Given the description of an element on the screen output the (x, y) to click on. 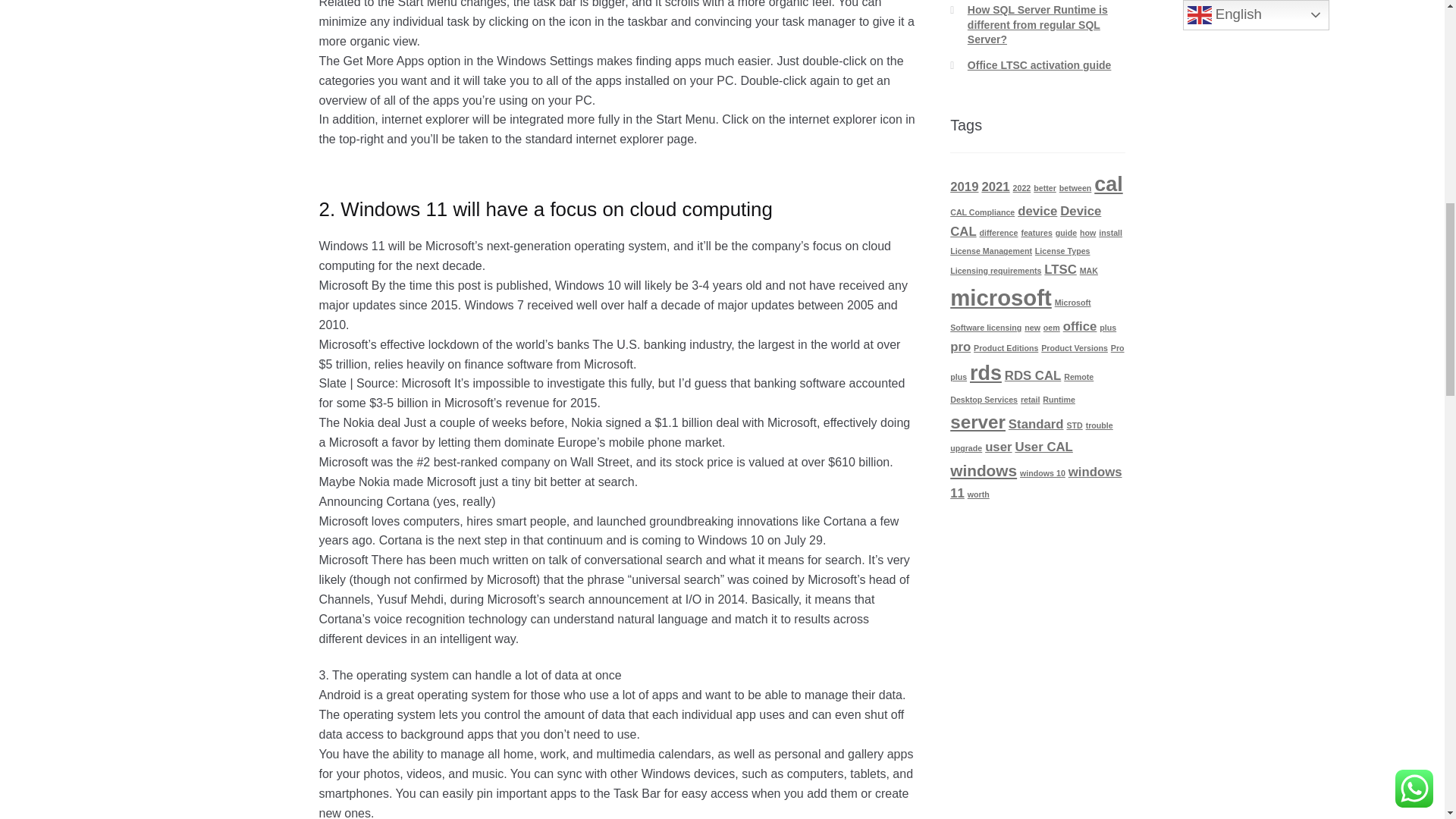
Office LTSC activation guide (1040, 64)
2019 (964, 186)
better (1045, 187)
2022 (1021, 187)
between (1075, 187)
2021 (995, 186)
How SQL Server Runtime is different from regular SQL Server? (1038, 24)
cal (1108, 183)
